Given the description of an element on the screen output the (x, y) to click on. 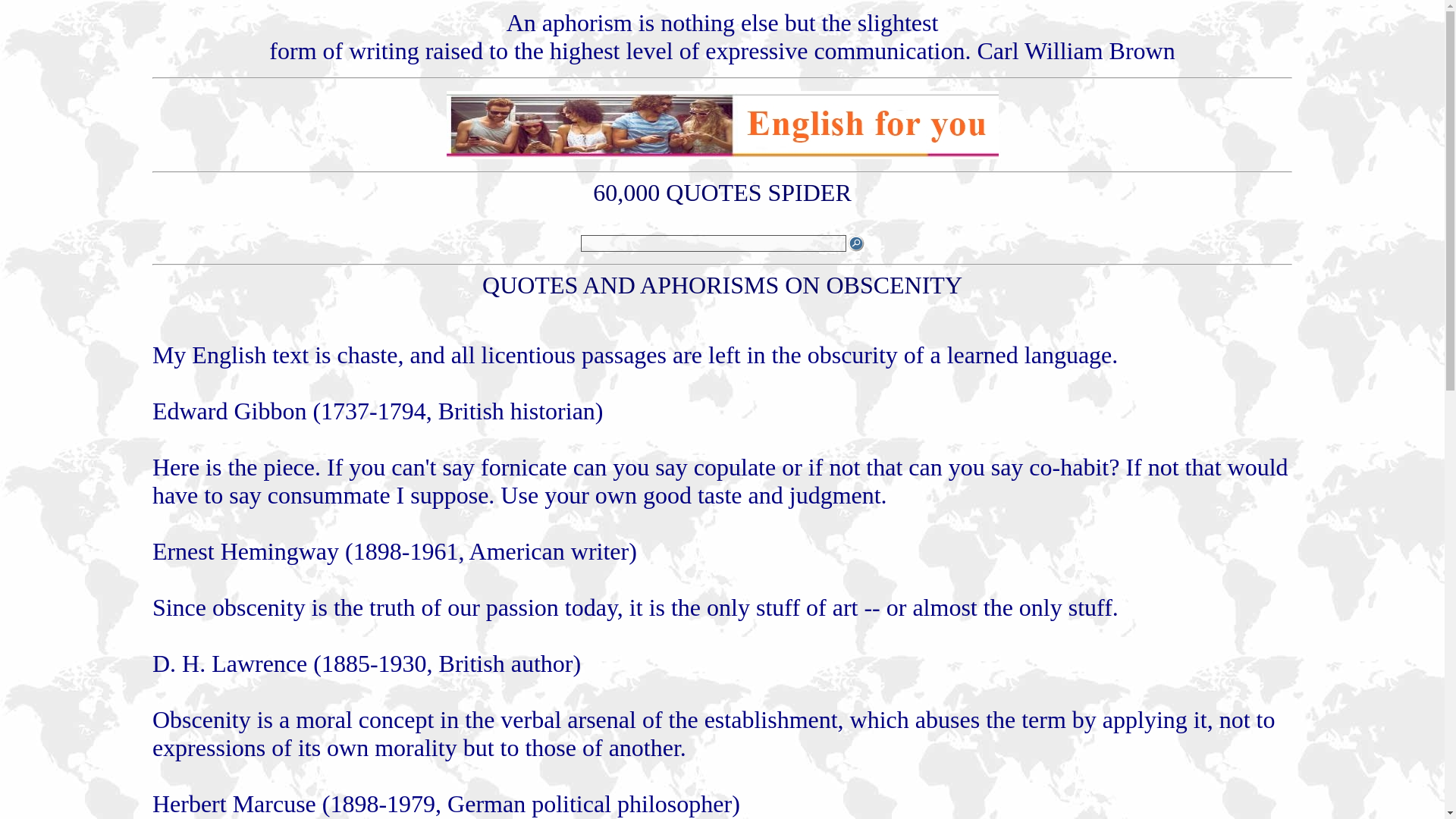
English culture blog and quotes (721, 154)
